Given the description of an element on the screen output the (x, y) to click on. 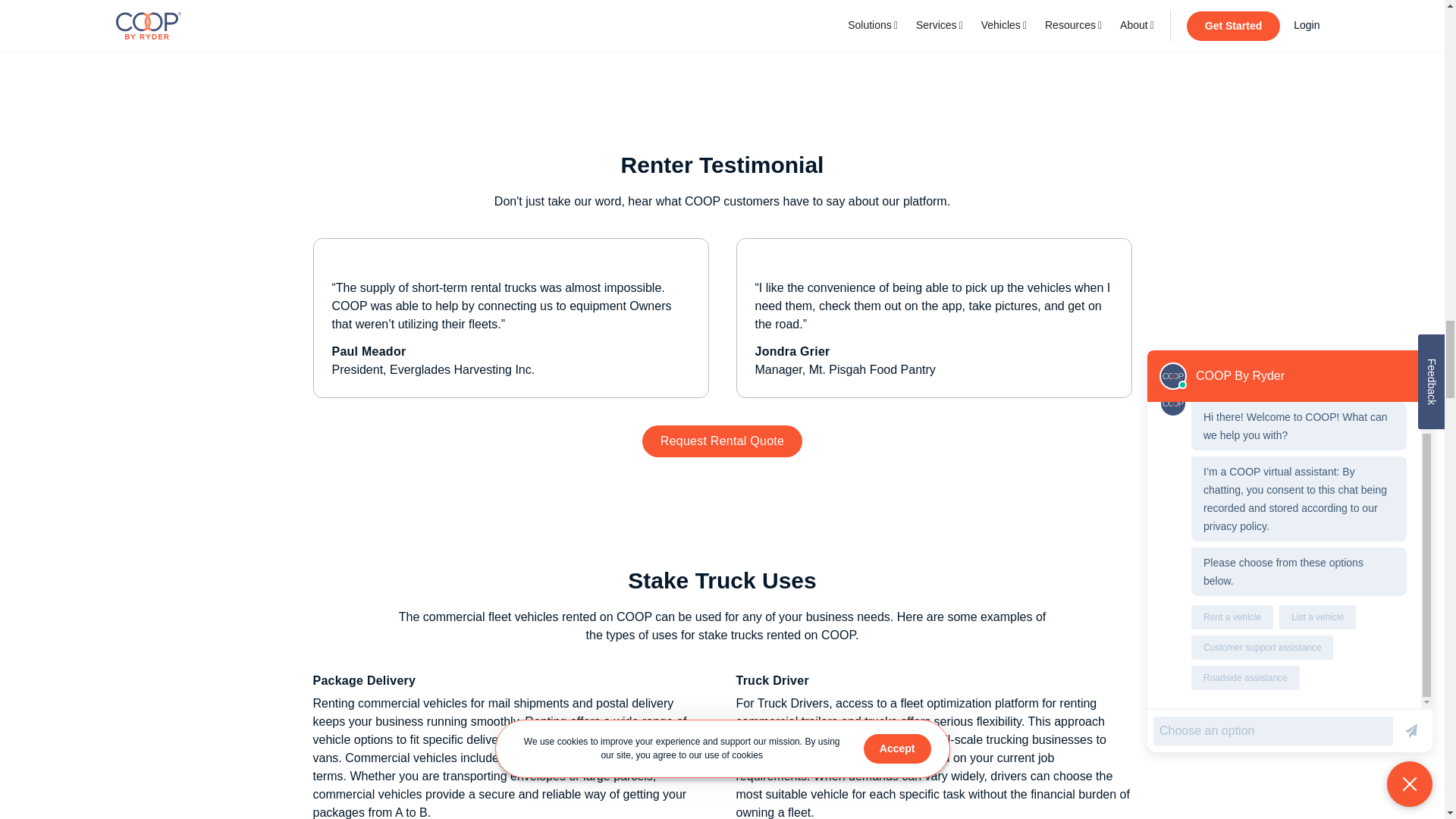
Request Rental Quote (722, 441)
